Given the description of an element on the screen output the (x, y) to click on. 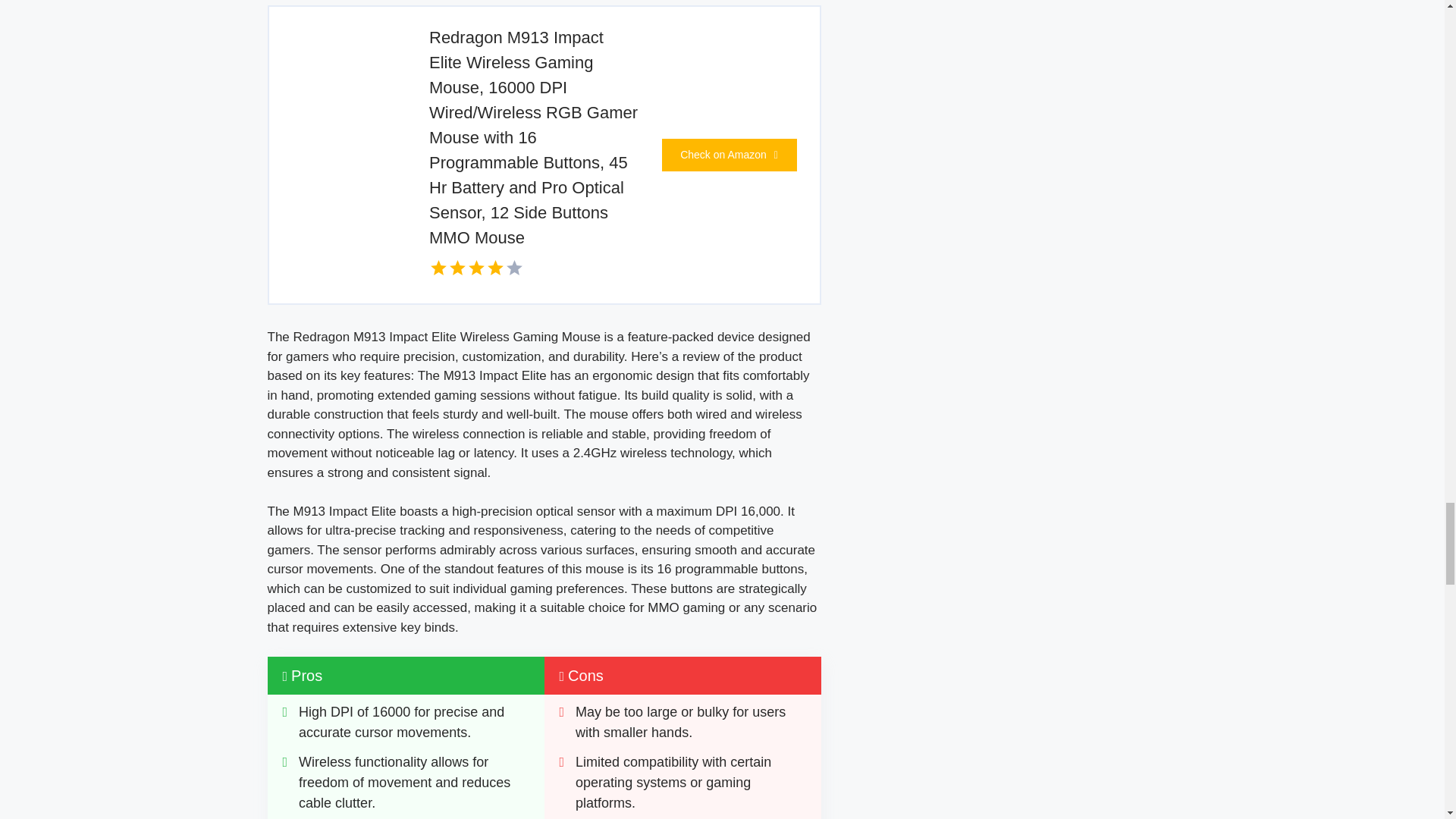
Check on Amazon (728, 154)
Best Mouses For Programming 5 (337, 77)
